Given the description of an element on the screen output the (x, y) to click on. 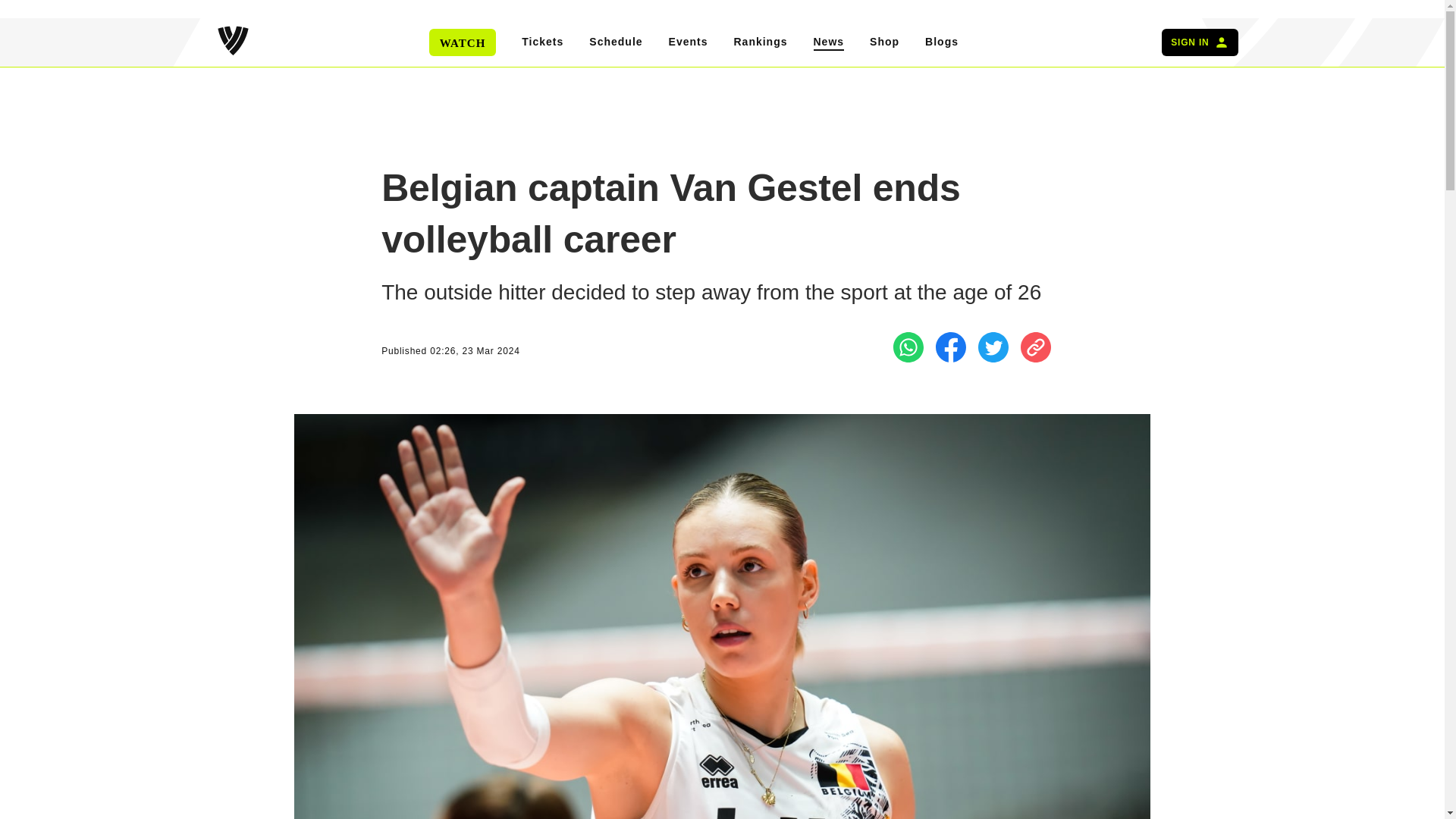
Homepage (232, 42)
Blogs (941, 42)
Schedule (615, 42)
SIGN IN (1199, 42)
News (828, 42)
Rankings (760, 42)
Tickets (542, 42)
WATCH (462, 42)
Events (687, 42)
Shop (884, 42)
